Given the description of an element on the screen output the (x, y) to click on. 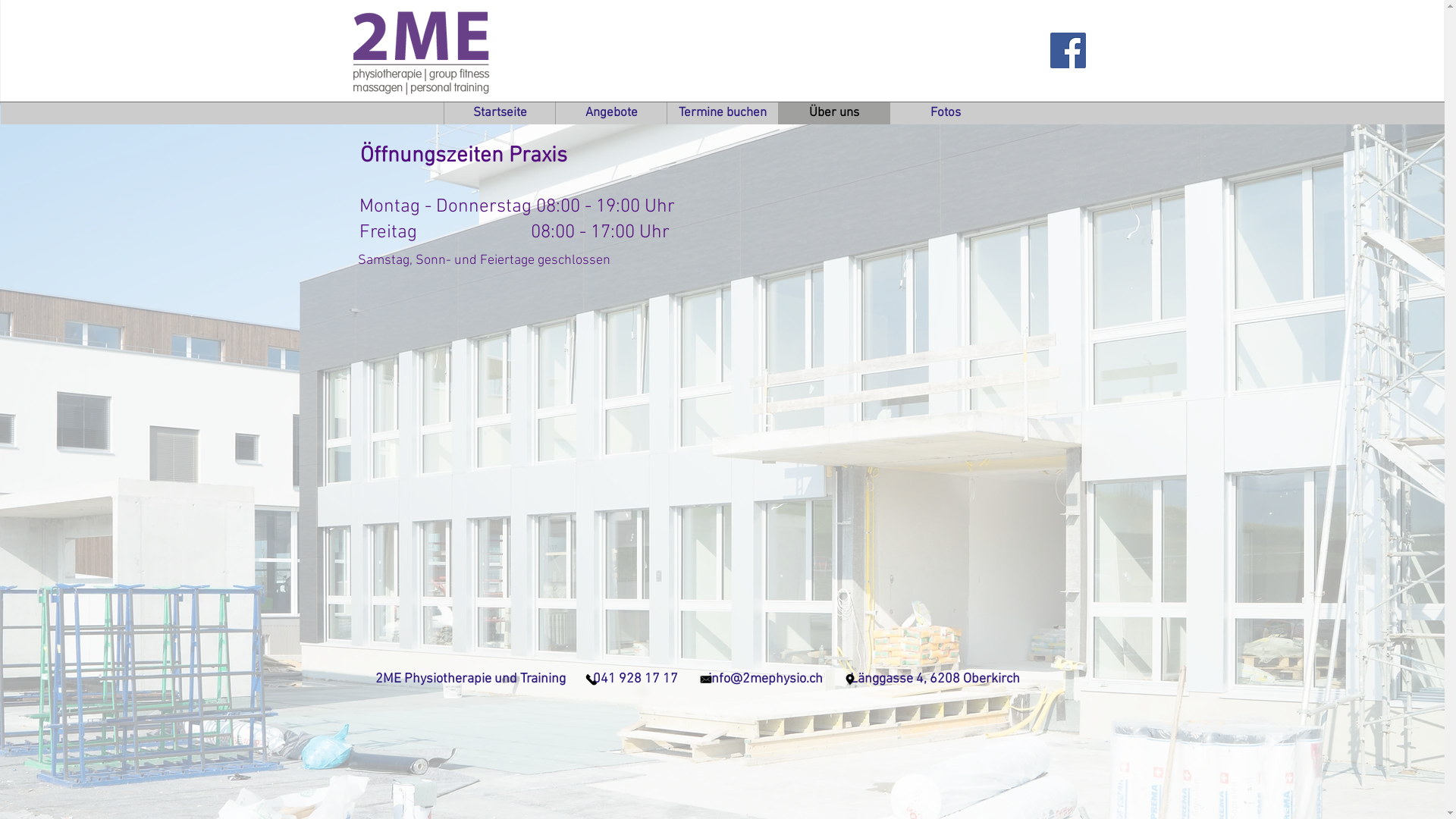
Termine buchen Element type: text (722, 113)
Angebote Element type: text (610, 113)
Fotos Element type: text (945, 113)
Startseite Element type: text (499, 113)
info@2mephysio.ch Element type: text (765, 679)
NeuesLogo2.jpg Element type: hover (421, 47)
